Given the description of an element on the screen output the (x, y) to click on. 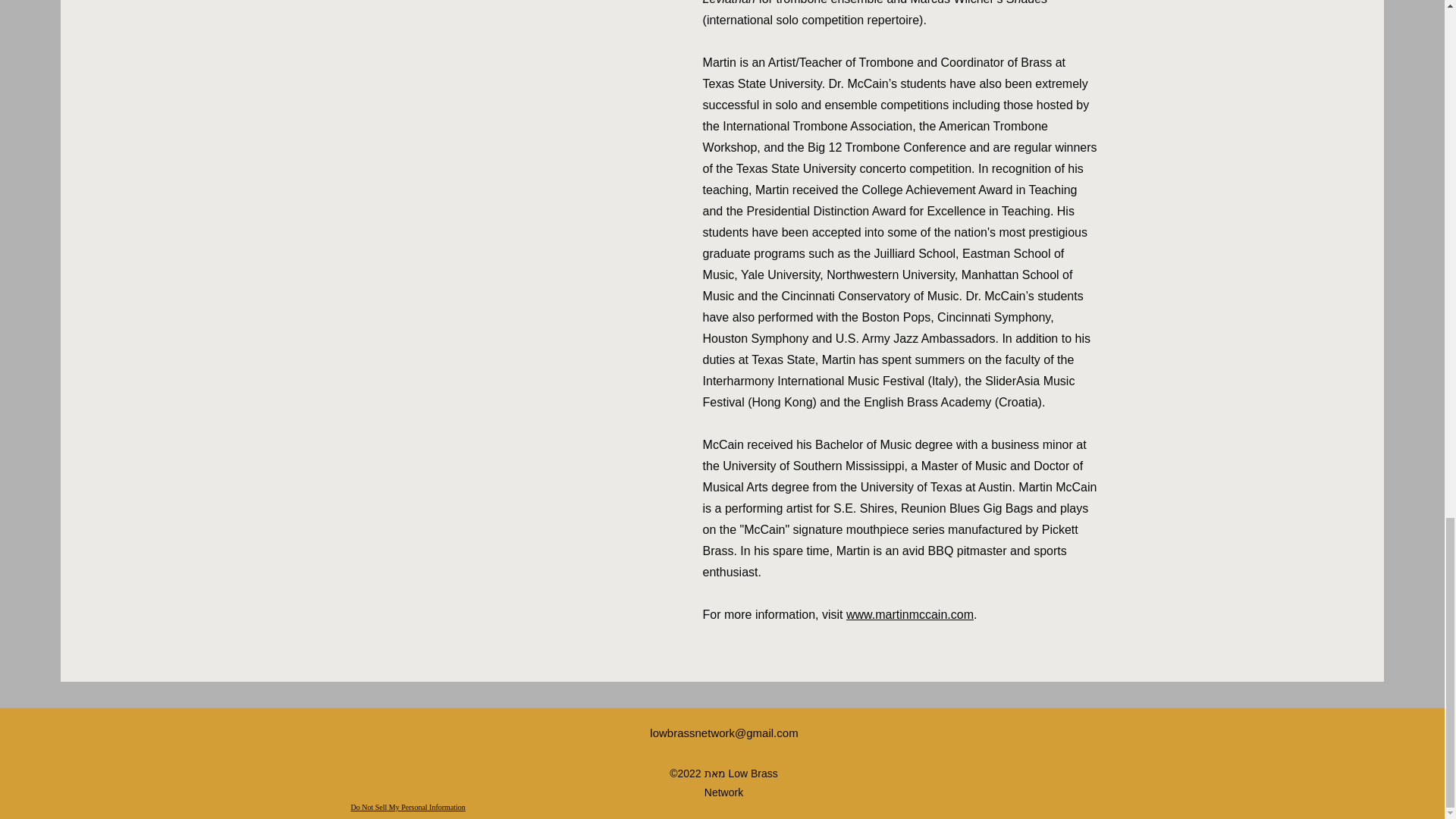
www.martinmccain.com (909, 614)
Do Not Sell My Personal Information (407, 807)
